Given the description of an element on the screen output the (x, y) to click on. 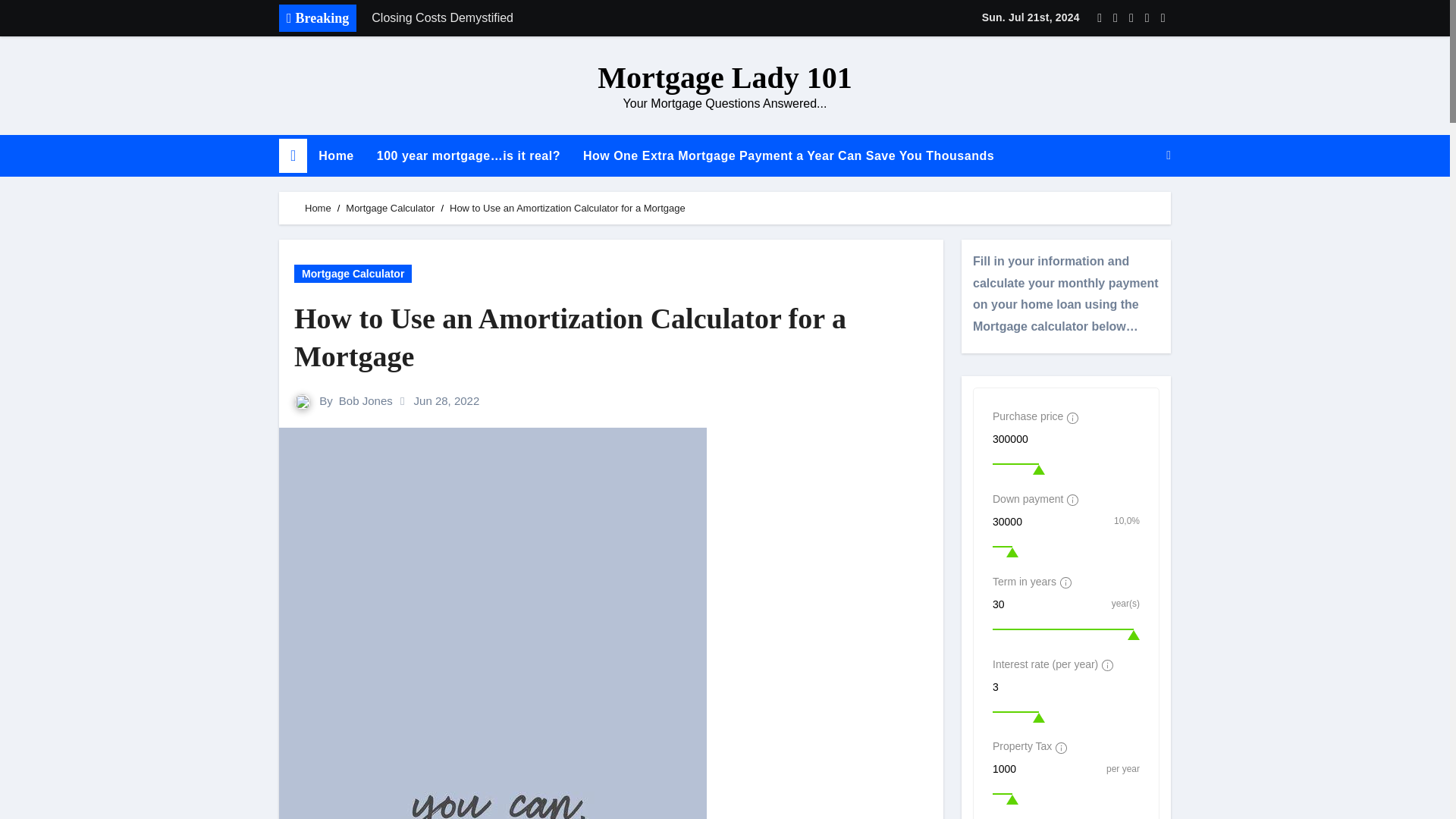
300000 (1066, 438)
Home (336, 155)
How One Extra Mortgage Payment a Year Can Save You Thousands (789, 155)
Mortgage Lady 101 (723, 77)
1000 (1047, 769)
Home (317, 207)
Jun 28, 2022 (446, 400)
Mortgage Calculator (389, 207)
30 (1050, 604)
How One Extra Mortgage Payment a Year Can Save You Thousands (789, 155)
3 (1066, 687)
Bob Jones (366, 400)
Home (336, 155)
Closing Costs Demystified (574, 18)
How to Use an Amortization Calculator for a Mortgage (611, 337)
